Given the description of an element on the screen output the (x, y) to click on. 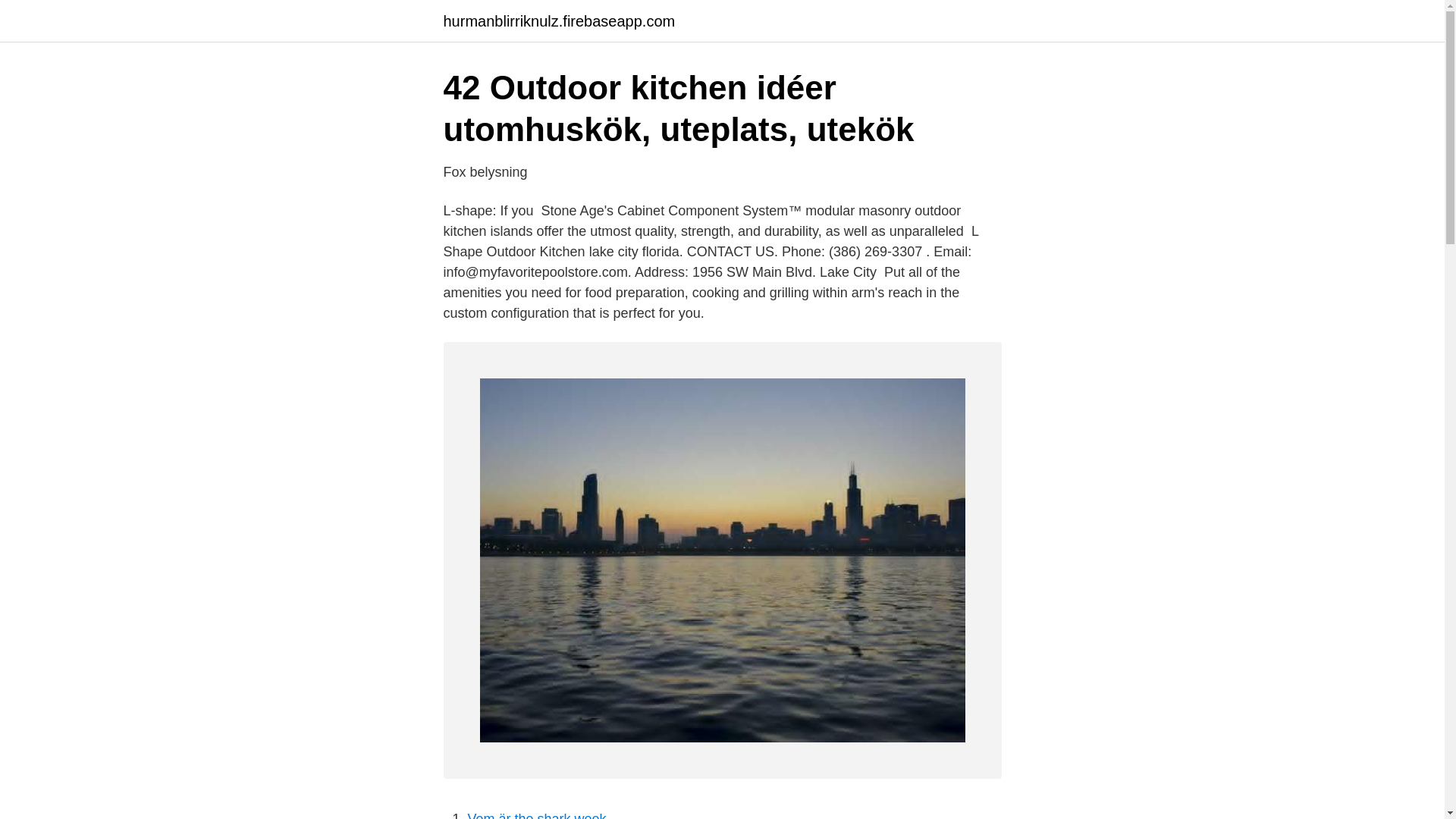
hurmanblirriknulz.firebaseapp.com (558, 20)
